Given the description of an element on the screen output the (x, y) to click on. 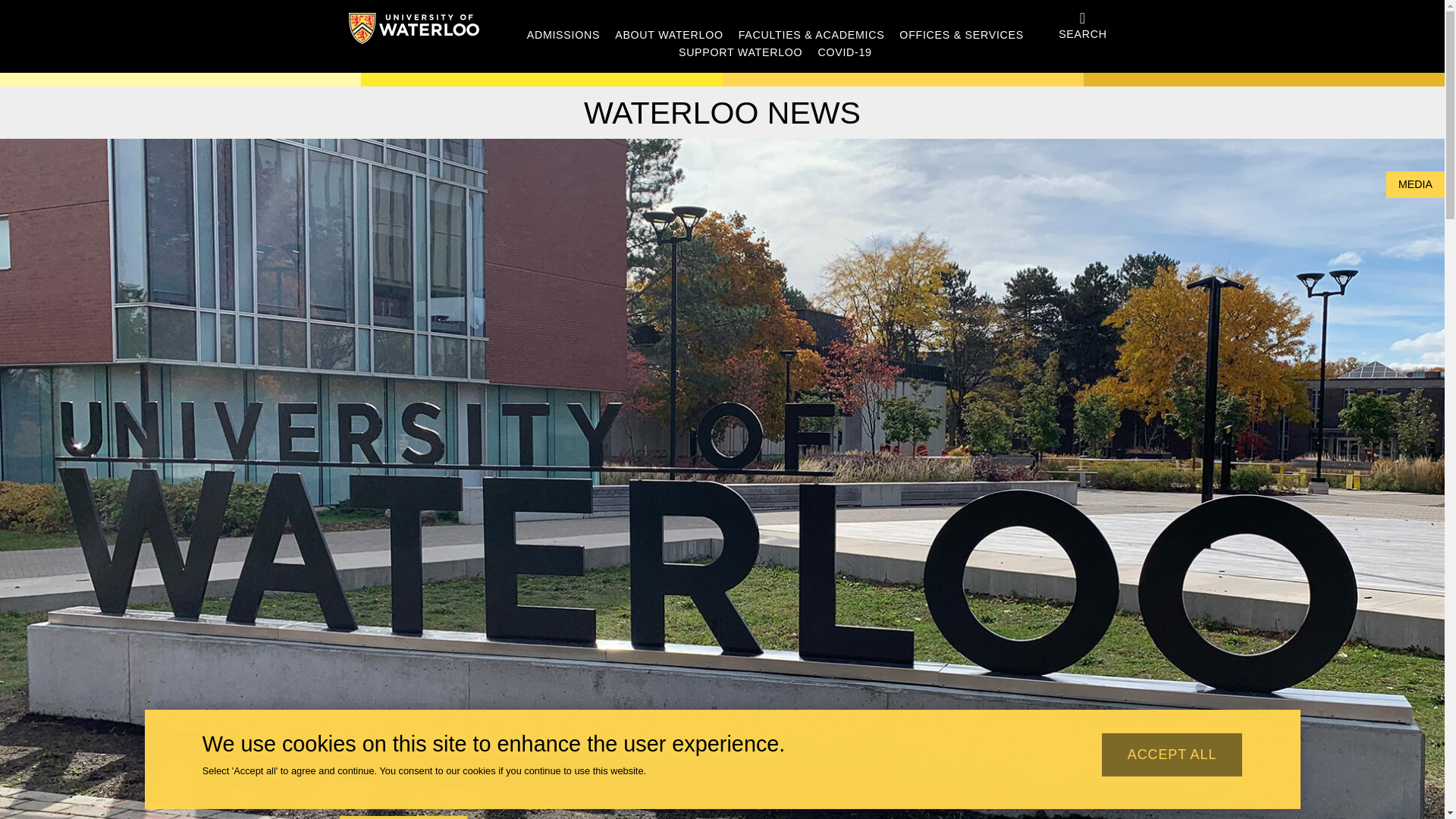
Waterloo News (721, 112)
University of Waterloo (414, 28)
SEARCH (1083, 26)
ADMISSIONS (563, 34)
COVID-19 (843, 51)
WATERLOO NEWS (721, 112)
ABOUT WATERLOO (668, 34)
SUPPORT WATERLOO (740, 51)
